Given the description of an element on the screen output the (x, y) to click on. 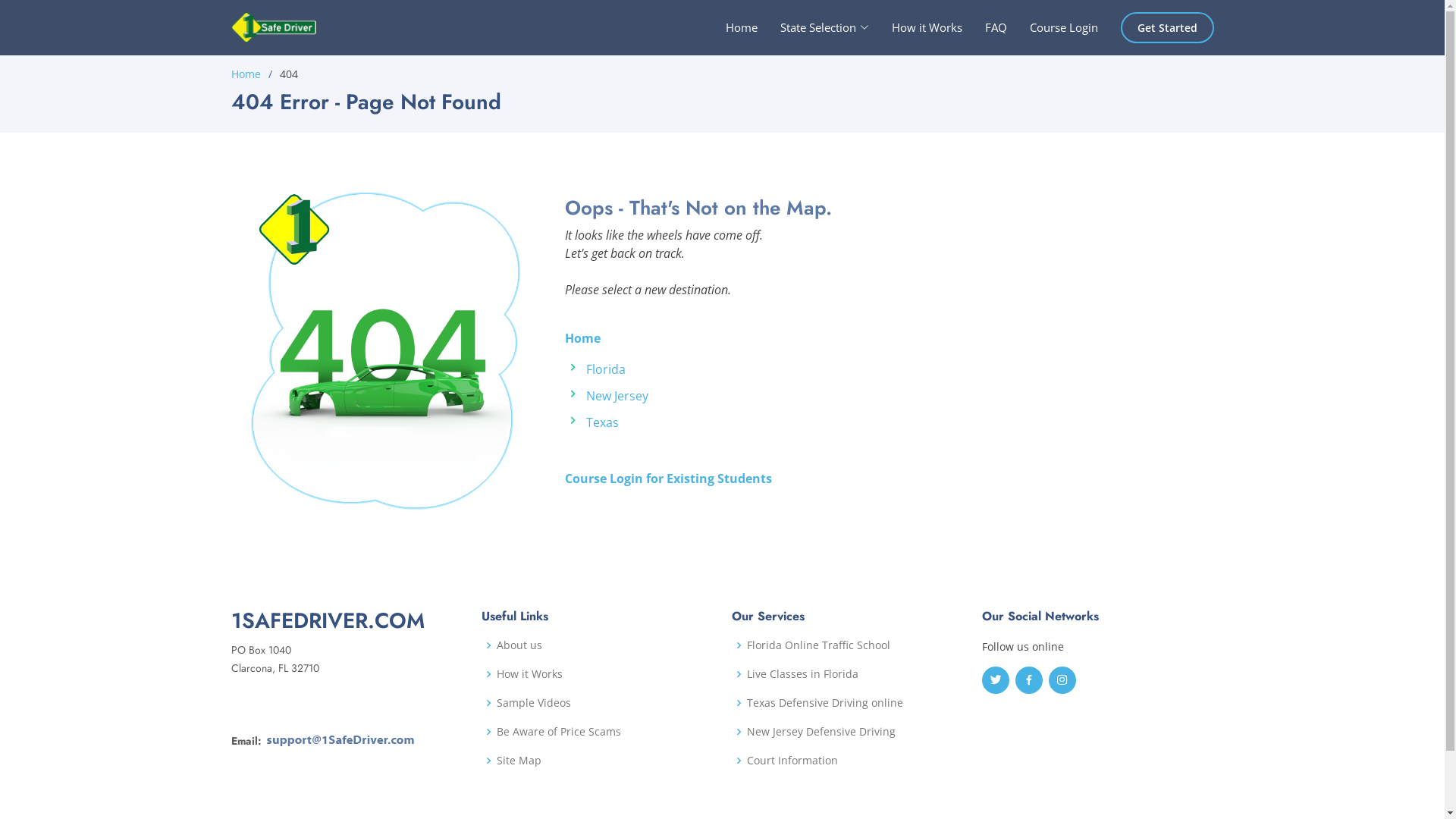
New Jersey Element type: text (616, 395)
Course Login for Existing Students Element type: text (667, 478)
Texas Defensive Driving online Element type: text (824, 702)
How it Works Element type: text (528, 673)
How it Works Element type: text (915, 27)
Florida Online Traffic School Element type: text (817, 645)
Live Classes in Florida Element type: text (801, 673)
Home Element type: text (729, 27)
Texas Element type: text (601, 422)
Get Started Element type: text (1167, 27)
State Selection Element type: text (812, 27)
About us Element type: text (518, 645)
New Jersey Defensive Driving Element type: text (820, 731)
Sample Videos Element type: text (532, 702)
Course Login Element type: text (1052, 27)
Site Map Element type: text (517, 760)
Home Element type: text (581, 337)
Home Element type: text (245, 73)
Florida Element type: text (604, 368)
Court Information Element type: text (791, 760)
FAQ Element type: text (983, 27)
Be Aware of Price Scams Element type: text (557, 731)
